Given the description of an element on the screen output the (x, y) to click on. 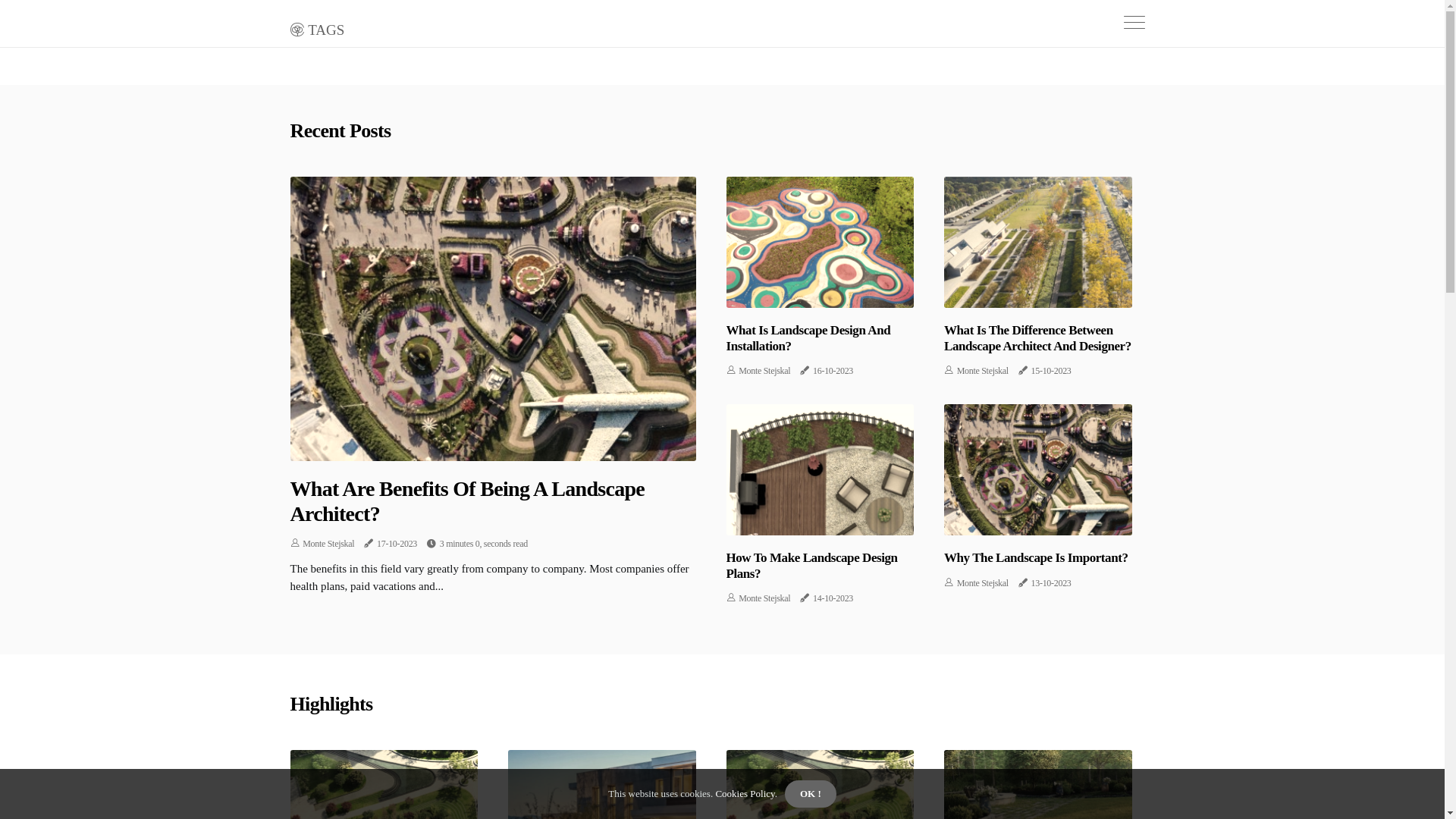
What Is Landscape Design And Installation? Element type: text (808, 337)
tags Element type: text (316, 26)
Monte Stejskal Element type: text (328, 543)
Monte Stejskal Element type: text (764, 370)
What Are Benefits Of Being A Landscape Architect? Element type: text (466, 501)
Monte Stejskal Element type: text (982, 582)
How To Make Landscape Design Plans? Element type: text (811, 565)
Cookies Policy Element type: text (743, 793)
Monte Stejskal Element type: text (764, 598)
Monte Stejskal Element type: text (982, 370)
Why The Landscape Is Important? Element type: text (1036, 557)
